Given the description of an element on the screen output the (x, y) to click on. 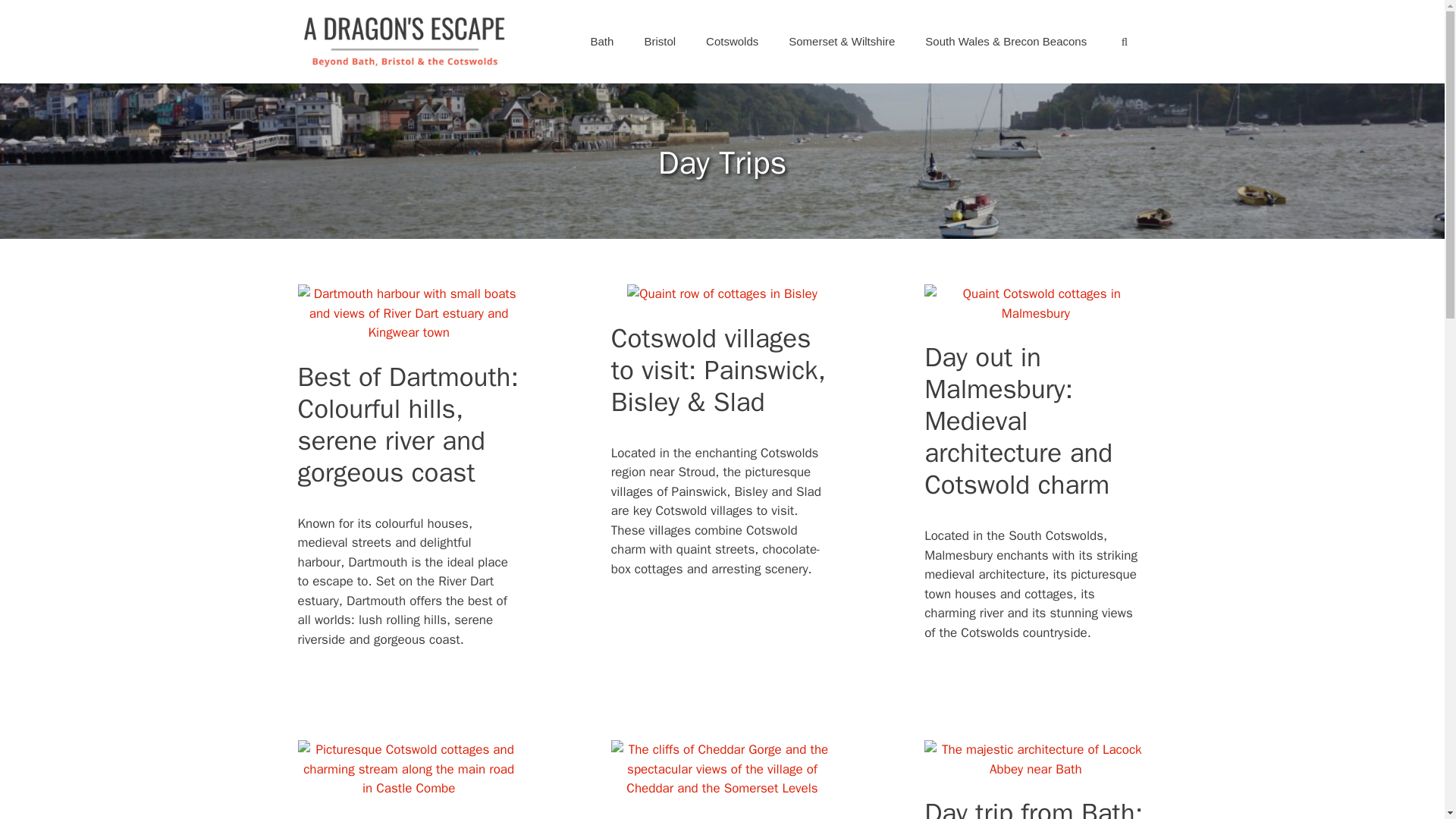
Bath (601, 41)
Bristol (659, 41)
Cotswolds (731, 41)
